Given the description of an element on the screen output the (x, y) to click on. 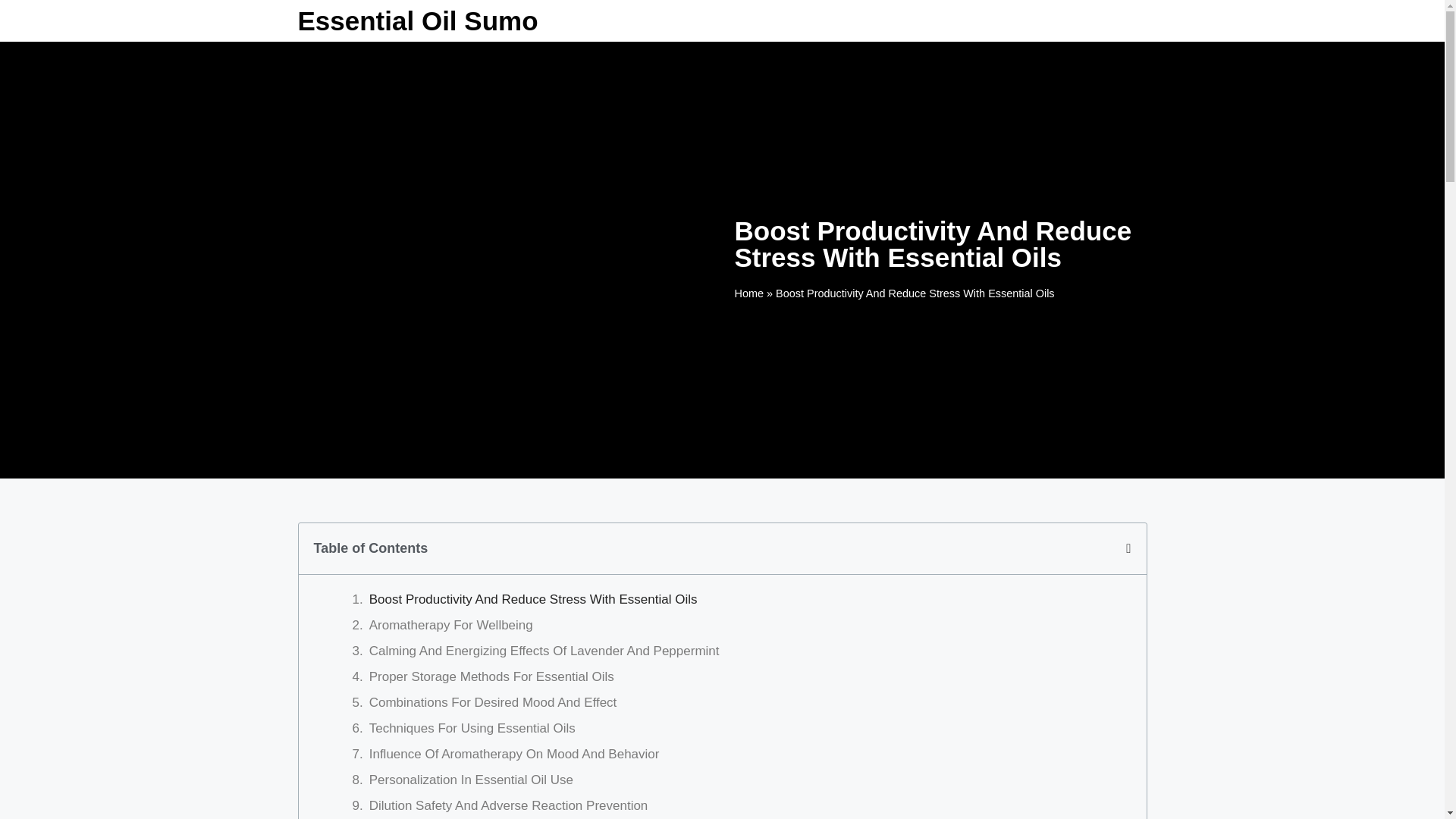
Dilution Safety And Adverse Reaction Prevention (508, 805)
Calming And Energizing Effects Of Lavender And Peppermint (544, 650)
Influence Of Aromatherapy On Mood And Behavior (514, 754)
Home (747, 293)
Personalization In Essential Oil Use (471, 780)
Boost Productivity And Reduce Stress With Essential Oils (533, 599)
Proper Storage Methods For Essential Oils (491, 677)
Aromatherapy For Wellbeing (450, 625)
Combinations For Desired Mood And Effect (493, 702)
Techniques For Using Essential Oils (472, 728)
